Given the description of an element on the screen output the (x, y) to click on. 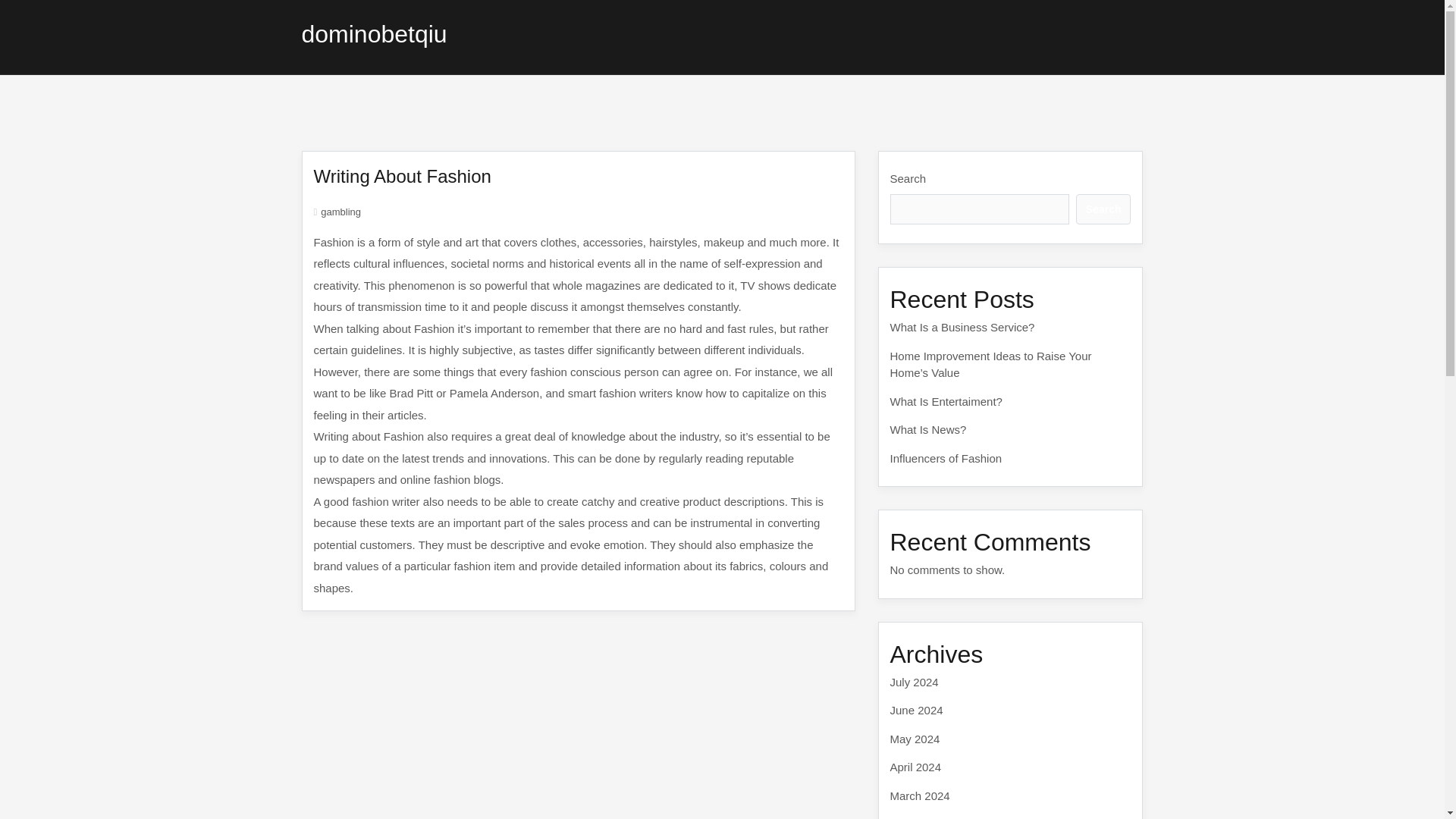
What Is Entertaiment? (946, 400)
June 2024 (916, 709)
What Is a Business Service? (962, 327)
April 2024 (915, 766)
Writing About Fashion (403, 176)
February 2024 (926, 818)
Search (1103, 209)
gambling (340, 211)
May 2024 (914, 738)
dominobetqiu (373, 33)
July 2024 (914, 680)
What Is News? (927, 429)
Influencers of Fashion (946, 458)
March 2024 (919, 794)
